Given the description of an element on the screen output the (x, y) to click on. 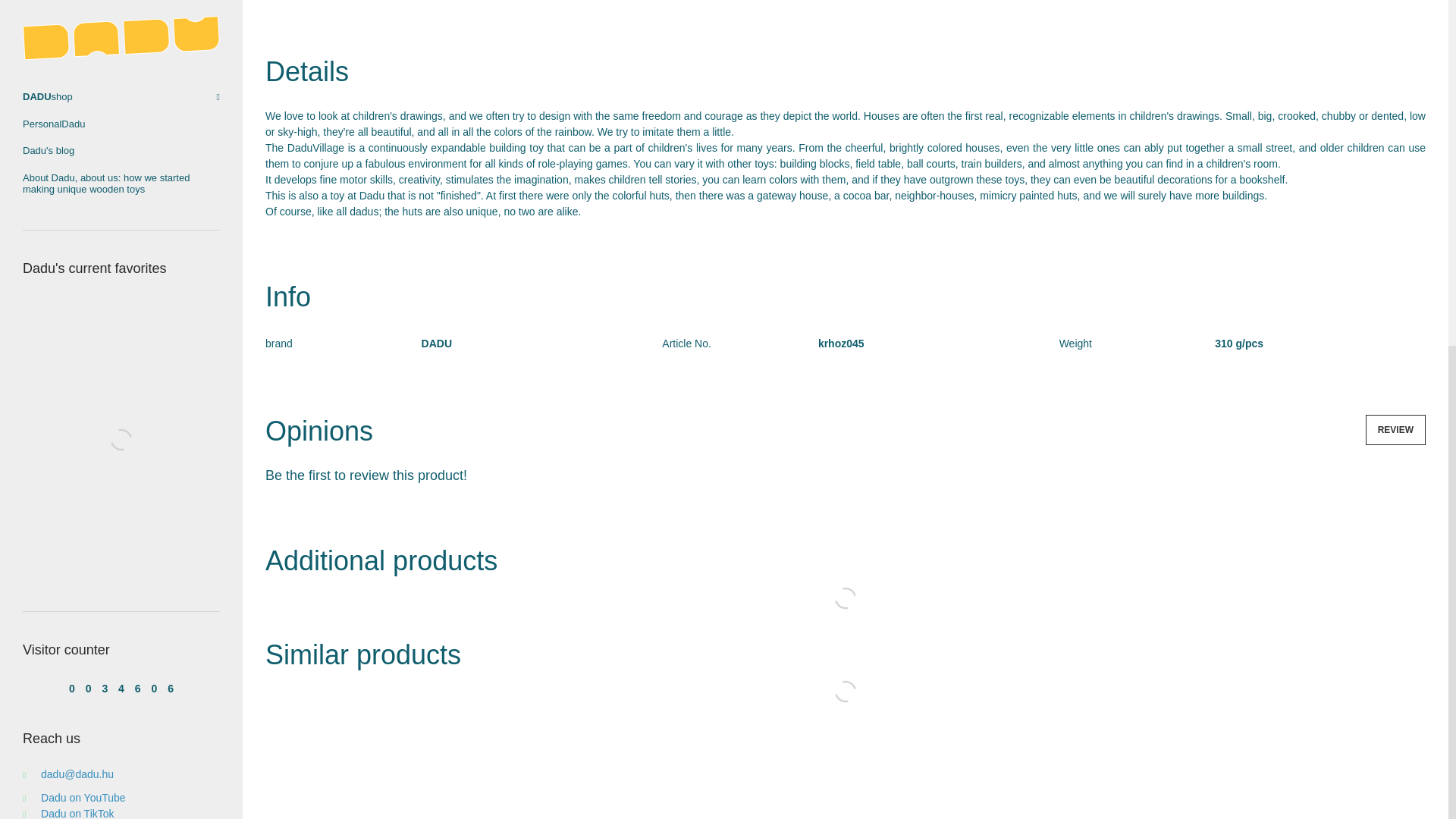
Dadu on Etsy (63, 246)
Dadu on Reddit (69, 230)
Dadu on YouTube (74, 198)
Dadu on TikTok (69, 214)
